Given the description of an element on the screen output the (x, y) to click on. 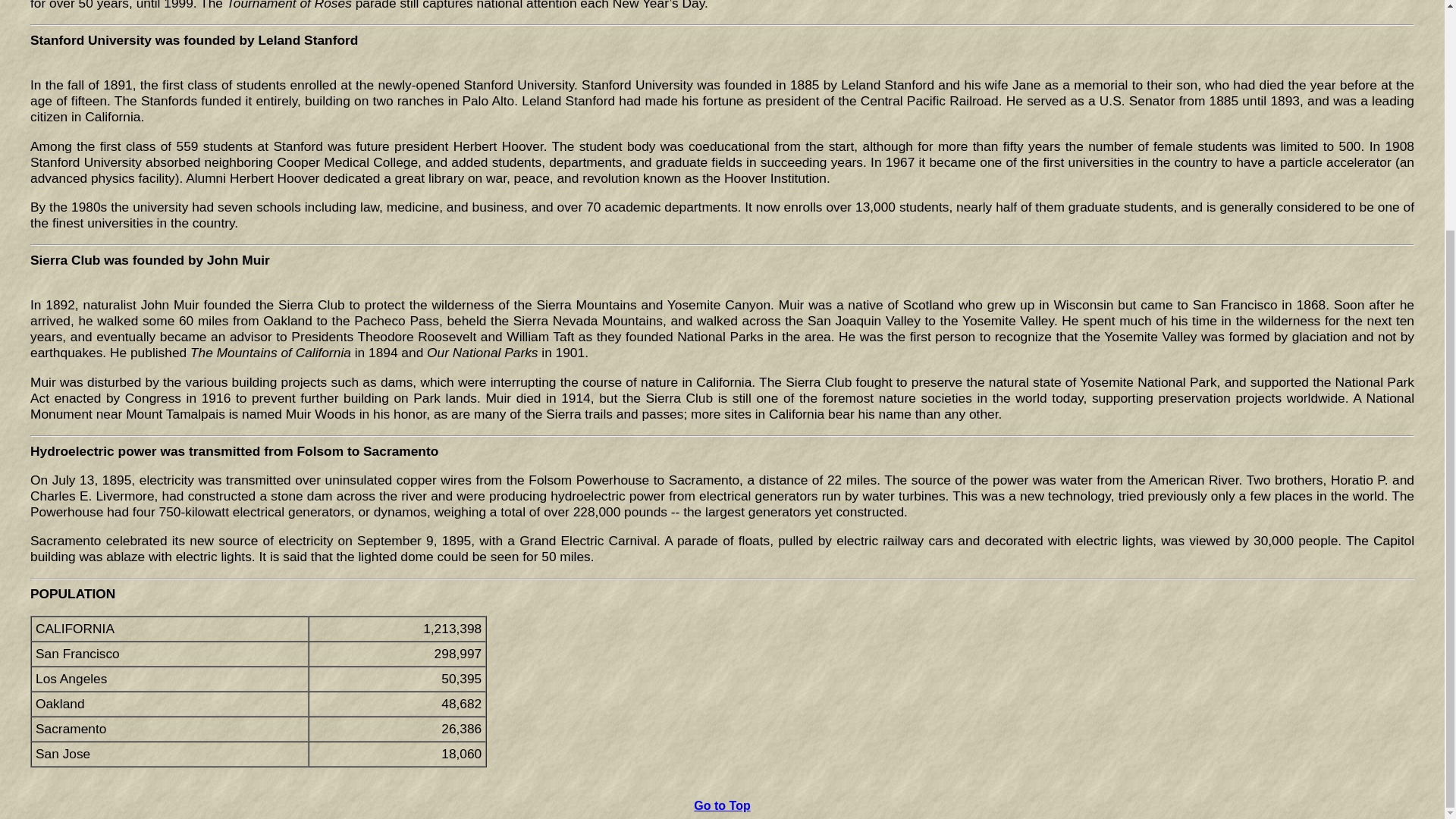
Go to Top (721, 805)
